Given the description of an element on the screen output the (x, y) to click on. 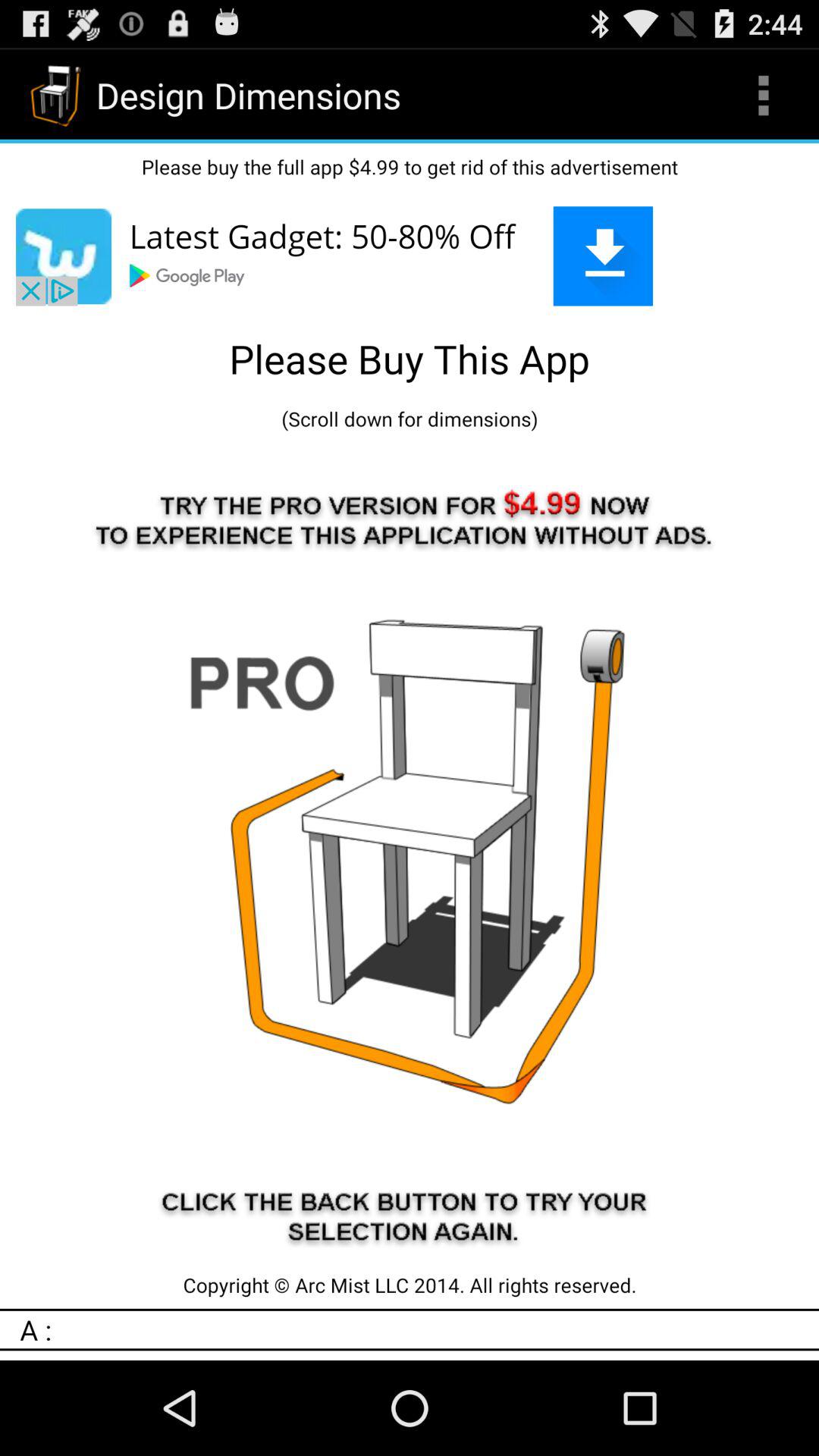
jump until the scroll down for app (409, 418)
